Given the description of an element on the screen output the (x, y) to click on. 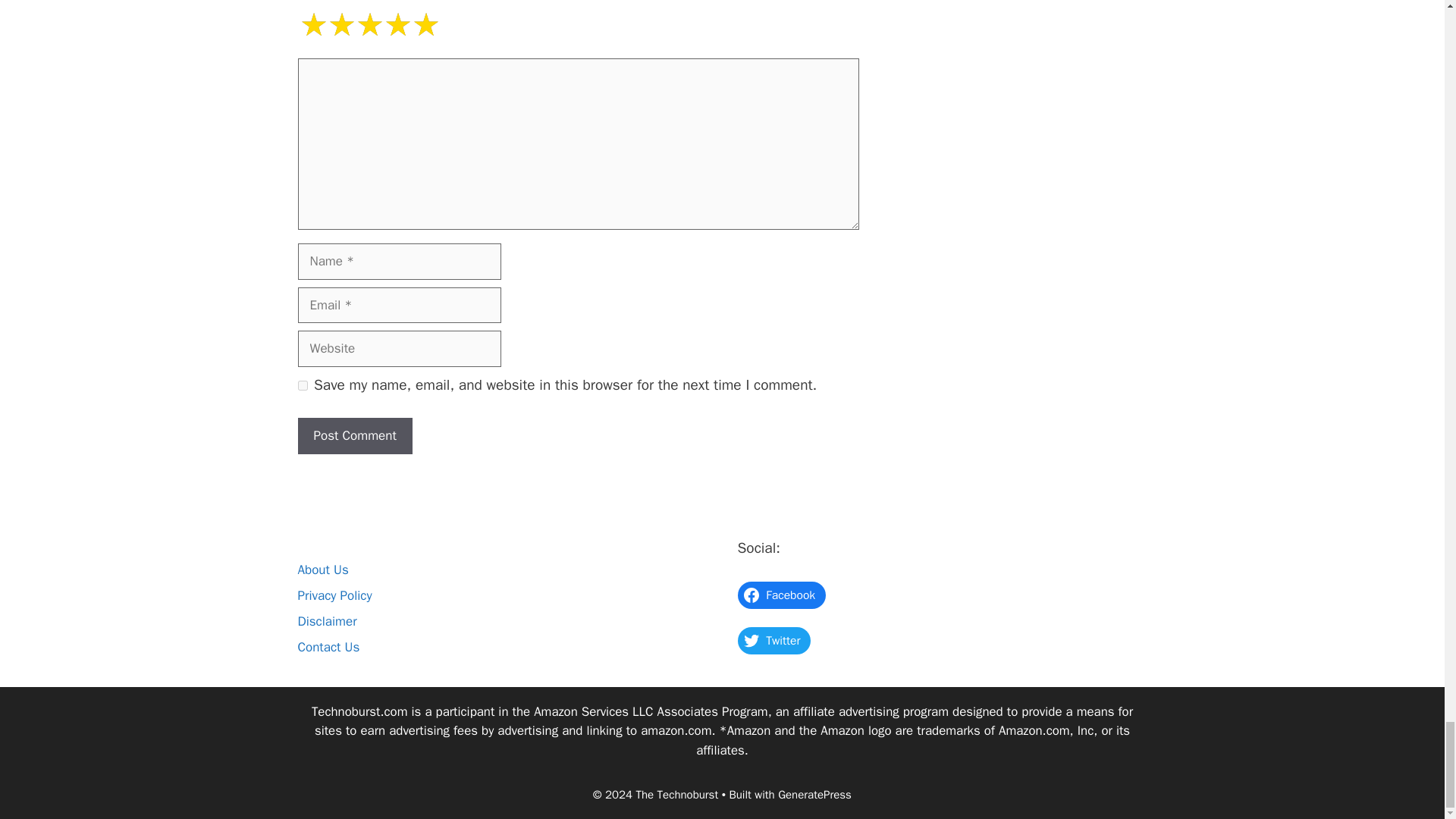
Post Comment (354, 435)
yes (302, 385)
